Given the description of an element on the screen output the (x, y) to click on. 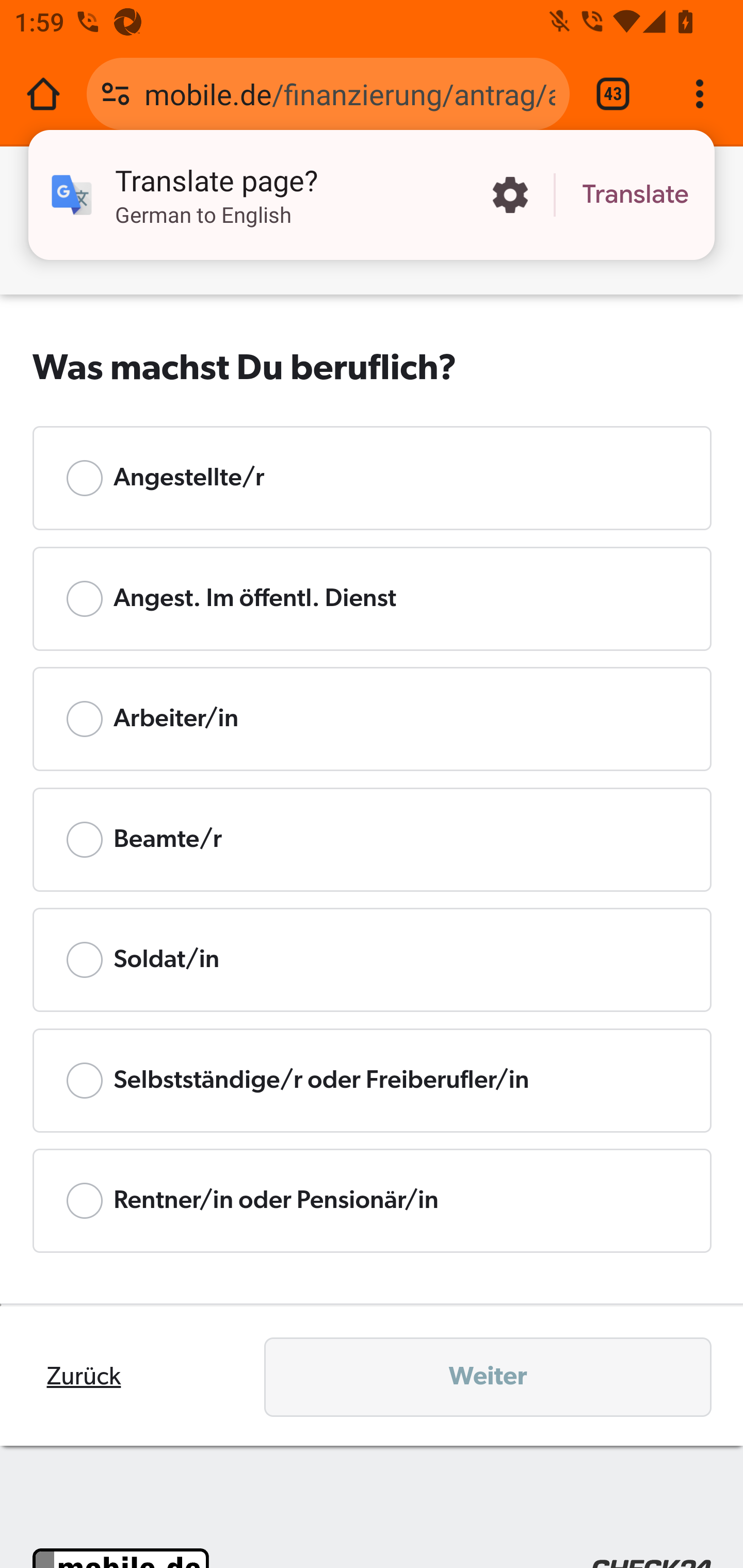
Open the home page (43, 93)
Connection is secure (115, 93)
Switch or close tabs (612, 93)
Customize and control Google Chrome (699, 93)
Translate (634, 195)
More options in the Translate page? (509, 195)
Weiter (488, 1376)
Zurück (83, 1376)
